Given the description of an element on the screen output the (x, y) to click on. 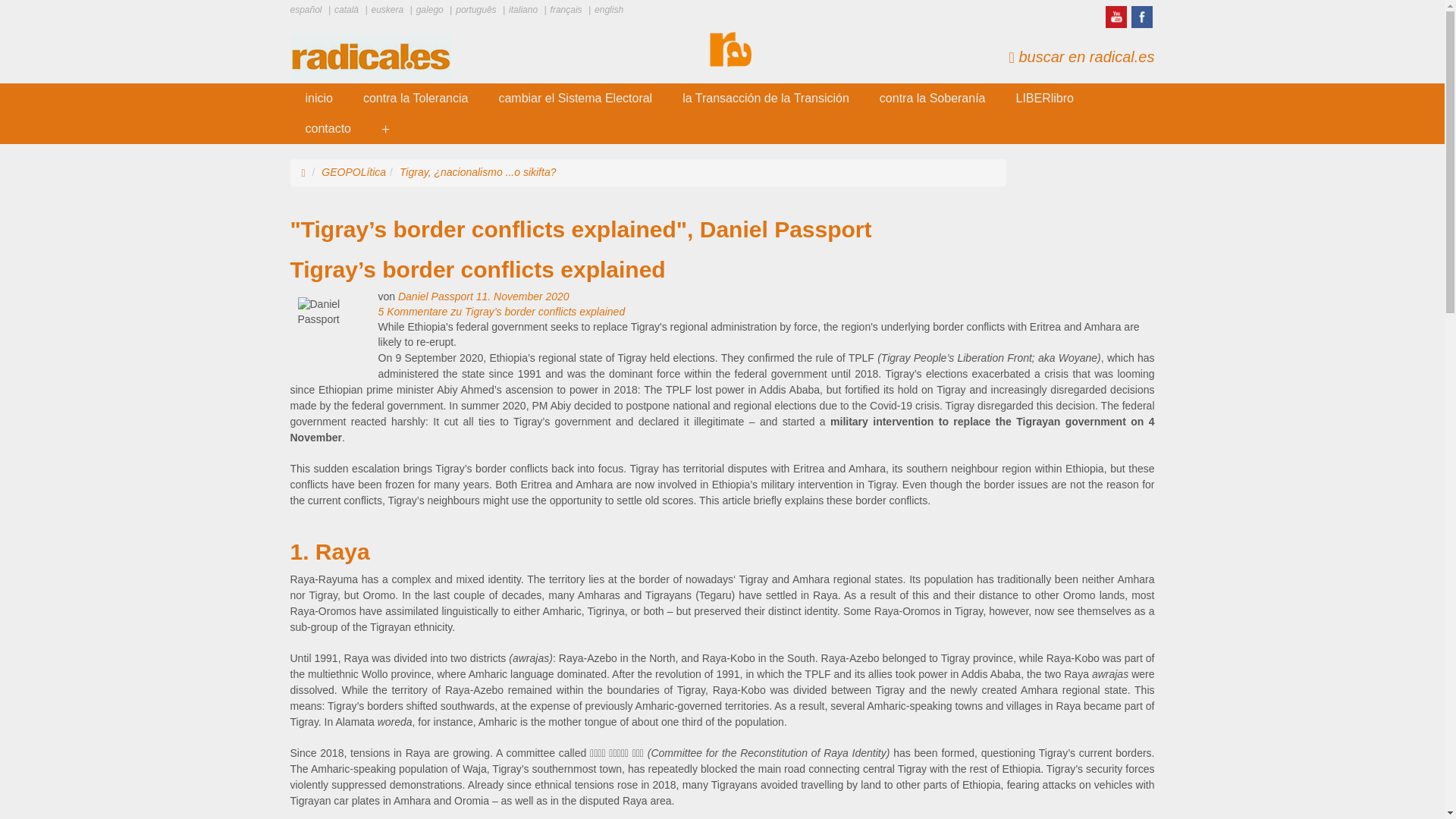
Visita nuestro canal YouTube (1115, 17)
11. November 2020 (522, 296)
galego (428, 9)
english (607, 9)
italiano (521, 9)
contacto (327, 128)
Daniel Passport (435, 296)
LIBERlibro (1045, 98)
buscar en radical.es (1081, 56)
cambiar el Sistema Electoral (574, 98)
contacto (327, 128)
inicio (318, 98)
RADICAL (318, 98)
euskera (386, 9)
contra la Tolerancia (415, 98)
